Given the description of an element on the screen output the (x, y) to click on. 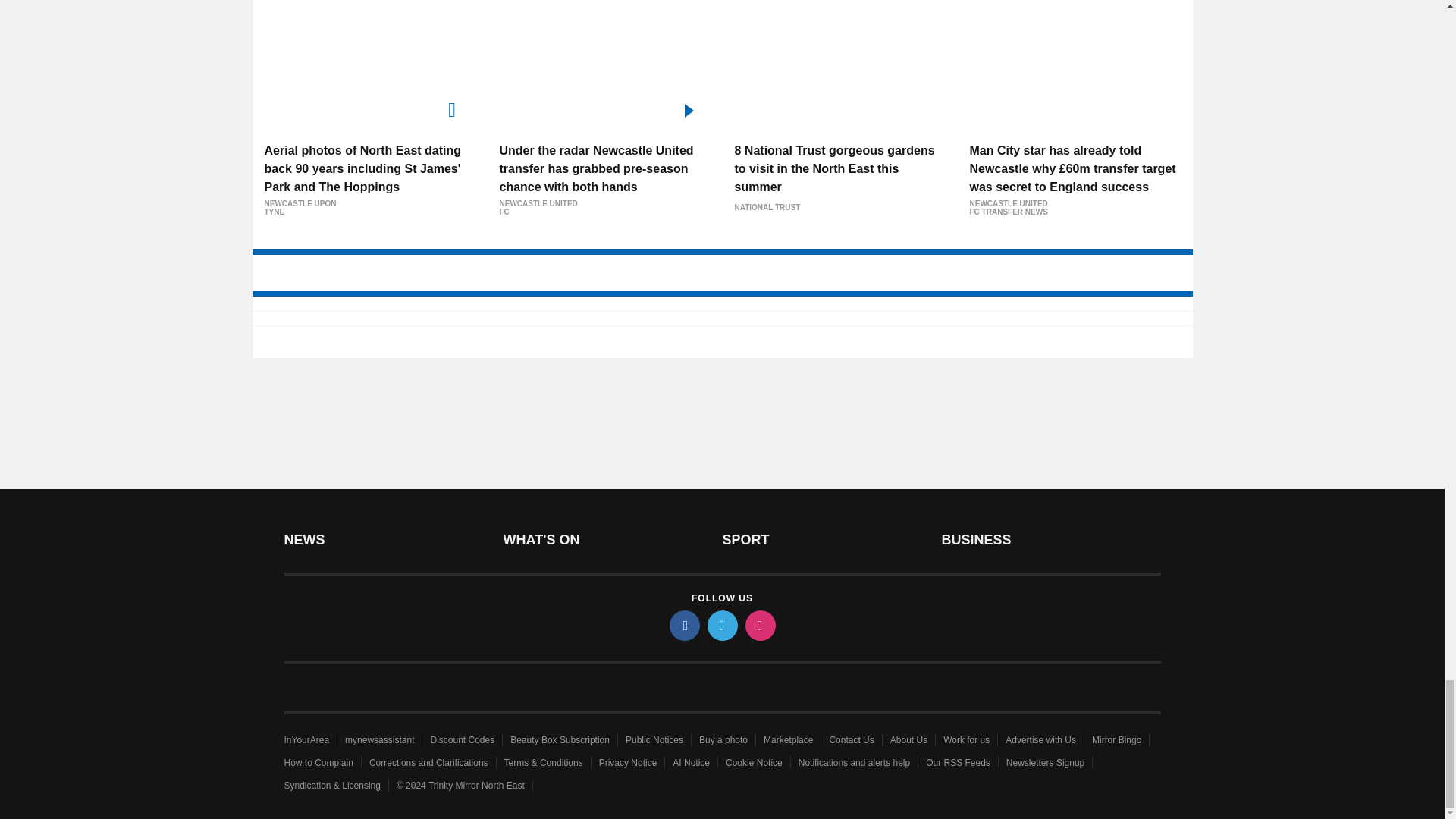
facebook (683, 625)
twitter (721, 625)
instagram (759, 625)
